Given the description of an element on the screen output the (x, y) to click on. 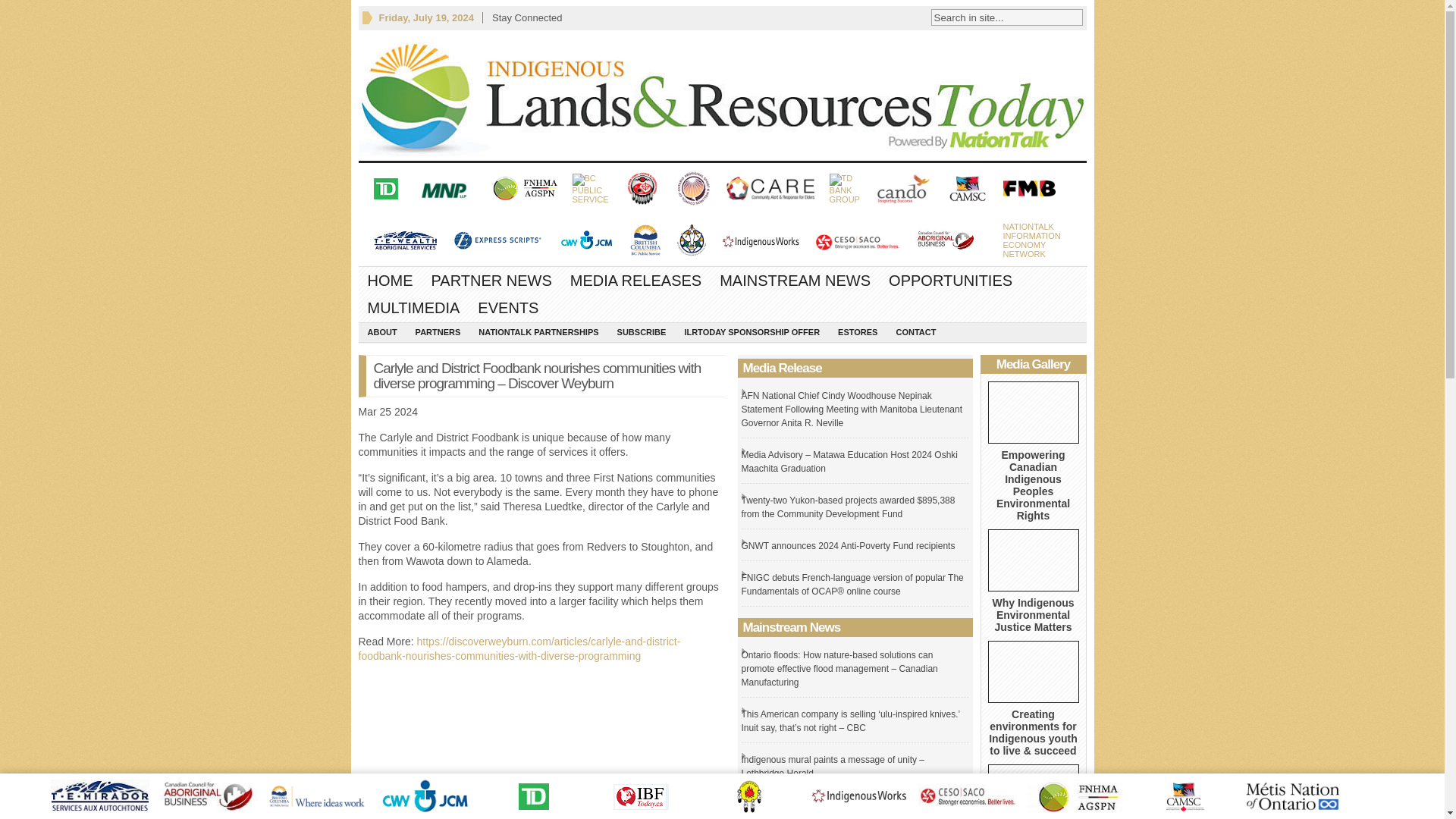
MEDIA RELEASES (635, 280)
Empowering Canadian Indigenous Peoples Environmental Rights (1033, 412)
Permalink to Why Indigenous Environmental Justice Matters (1031, 239)
Today's Top Aboriginal Lands and Resources News (1032, 615)
PARTNER NEWS (722, 95)
Search in site... (491, 280)
HOME (996, 17)
Why Indigenous Environmental Justice Matters (390, 280)
Stay Connected (1033, 559)
